Given the description of an element on the screen output the (x, y) to click on. 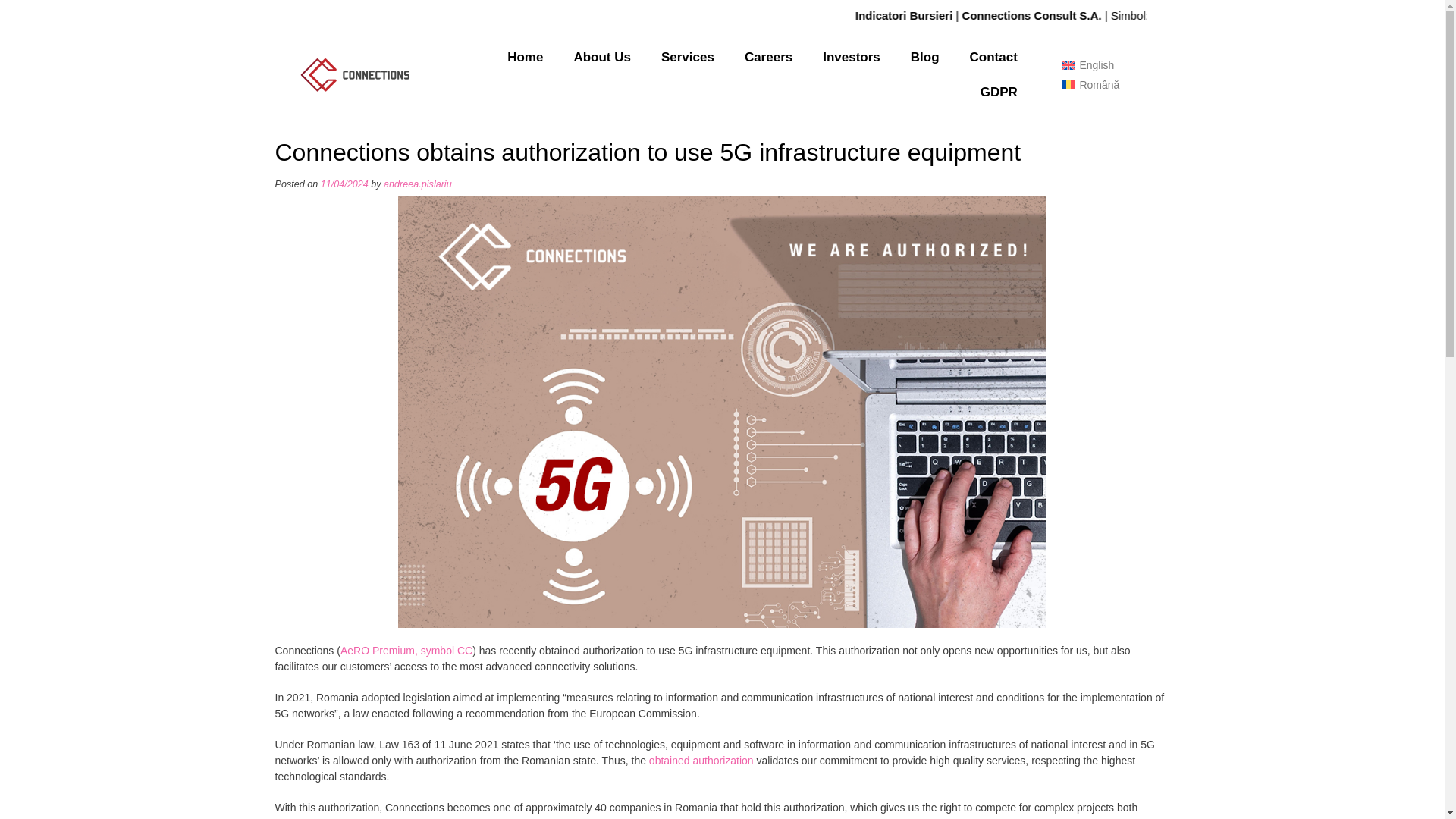
Contact (993, 56)
About Us (601, 56)
Investors (851, 56)
Careers (768, 56)
Identitate-Connections PNG2 (353, 74)
GDPR (998, 91)
Services (687, 56)
obtained authorization (701, 760)
English (1088, 64)
AeRO Premium, symbol CC (405, 650)
